Given the description of an element on the screen output the (x, y) to click on. 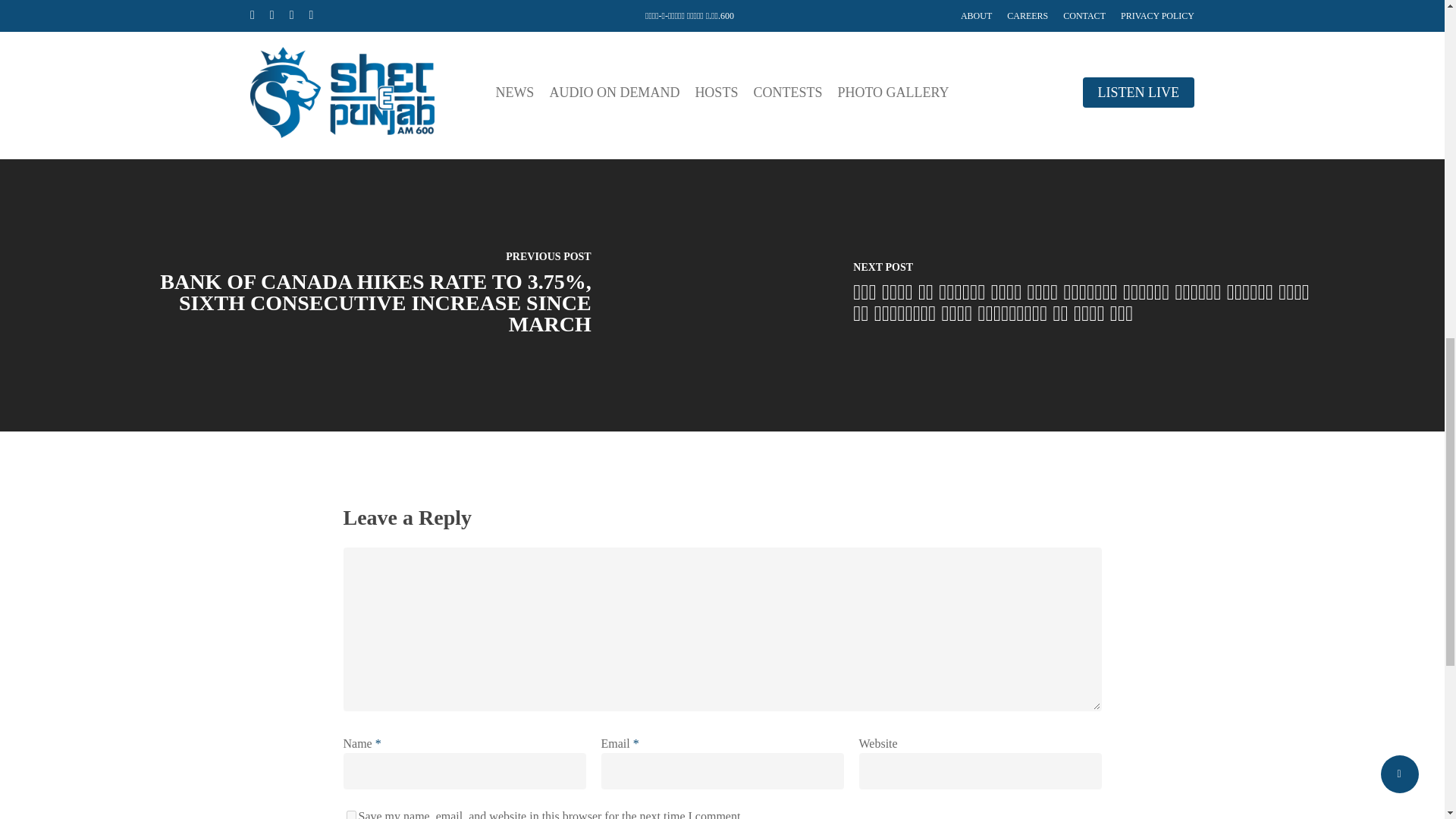
yes (350, 814)
